Given the description of an element on the screen output the (x, y) to click on. 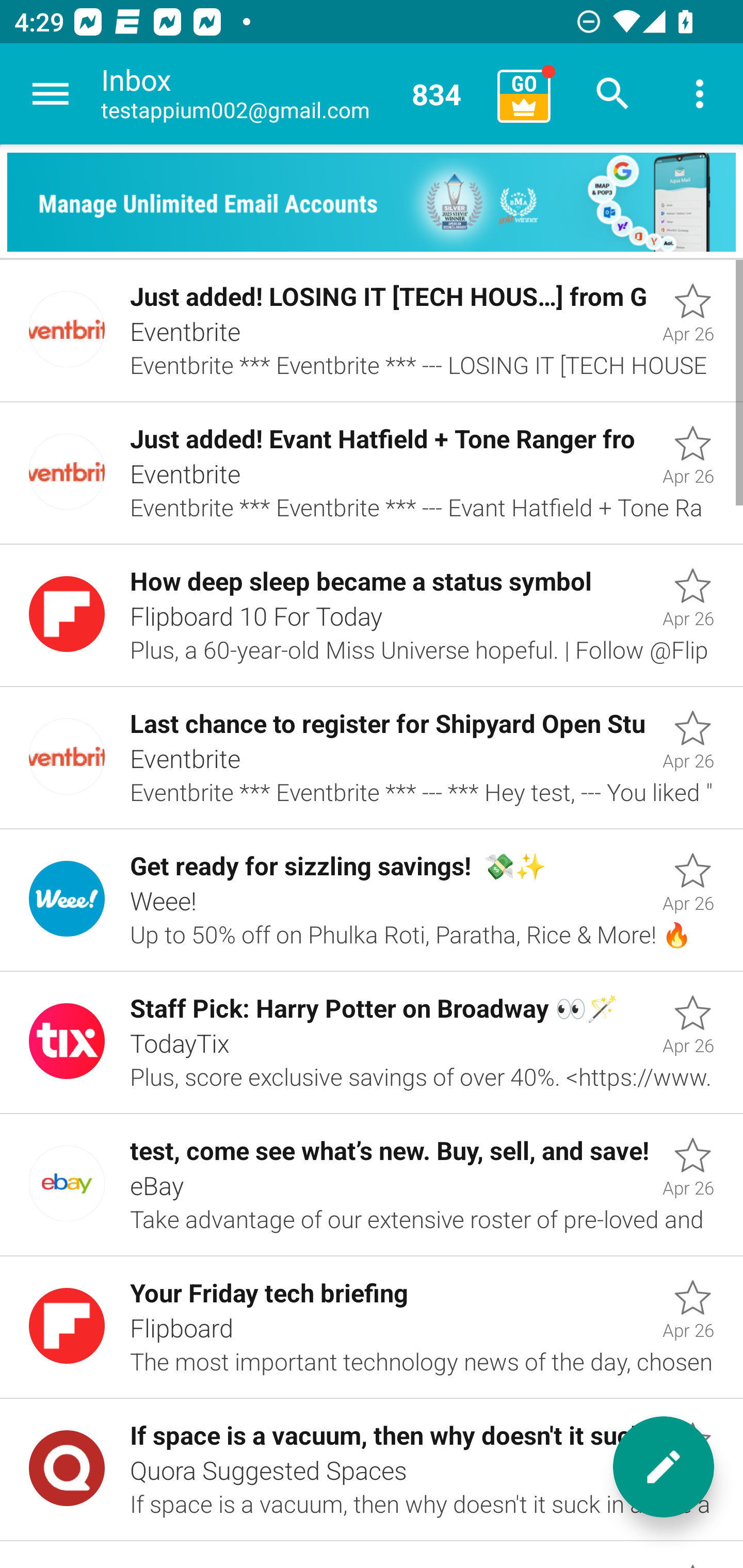
Navigate up (50, 93)
Inbox testappium002@gmail.com 834 (291, 93)
Search (612, 93)
More options (699, 93)
New message (663, 1466)
